Given the description of an element on the screen output the (x, y) to click on. 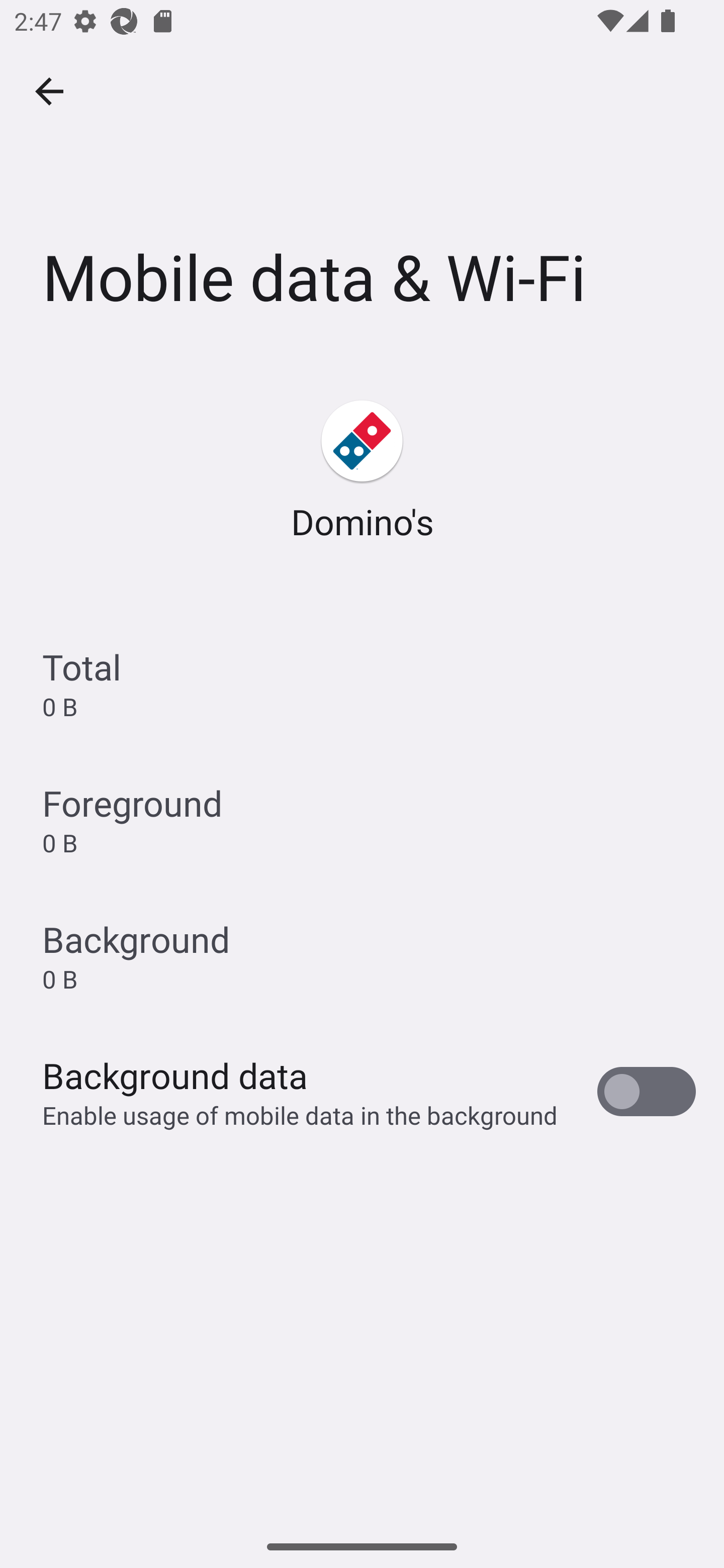
Navigate up (49, 91)
Domino's (361, 471)
